Given the description of an element on the screen output the (x, y) to click on. 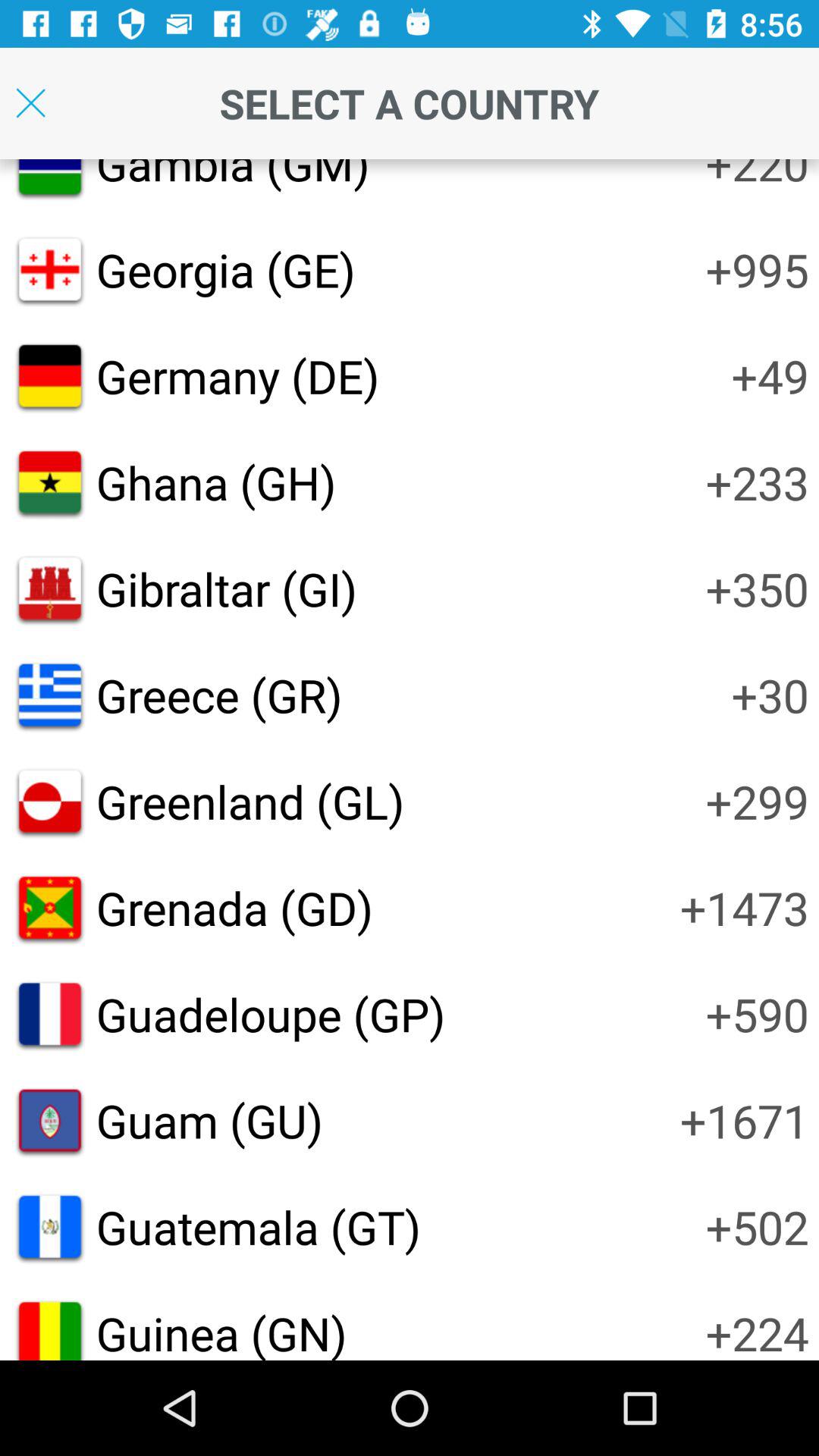
swipe to the +590 (756, 1013)
